Given the description of an element on the screen output the (x, y) to click on. 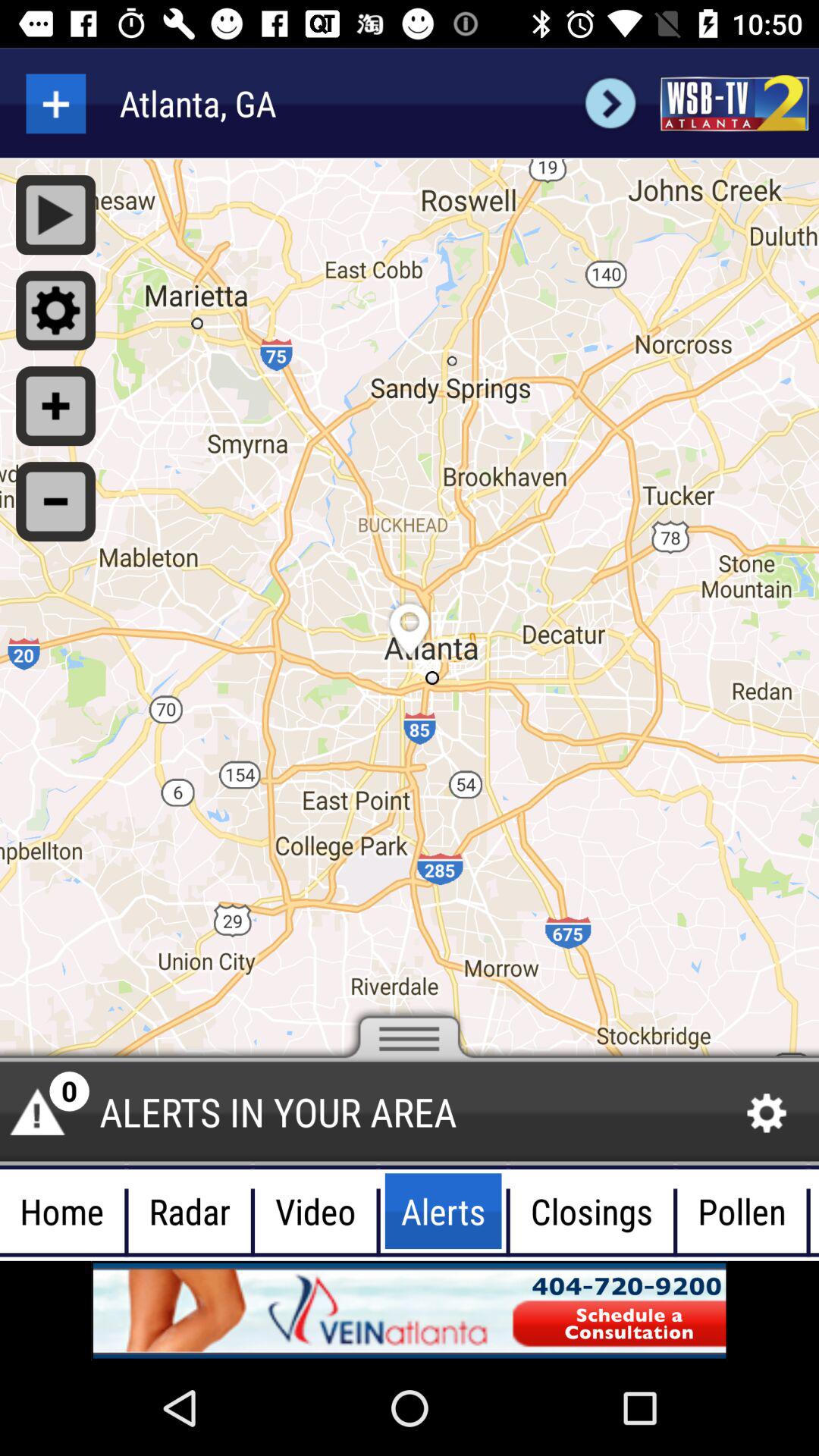
select the button which is left side of the alerts (315, 1210)
click on  button (55, 501)
click on setting button (55, 310)
click on setting button at bottom (767, 1113)
